Given the description of an element on the screen output the (x, y) to click on. 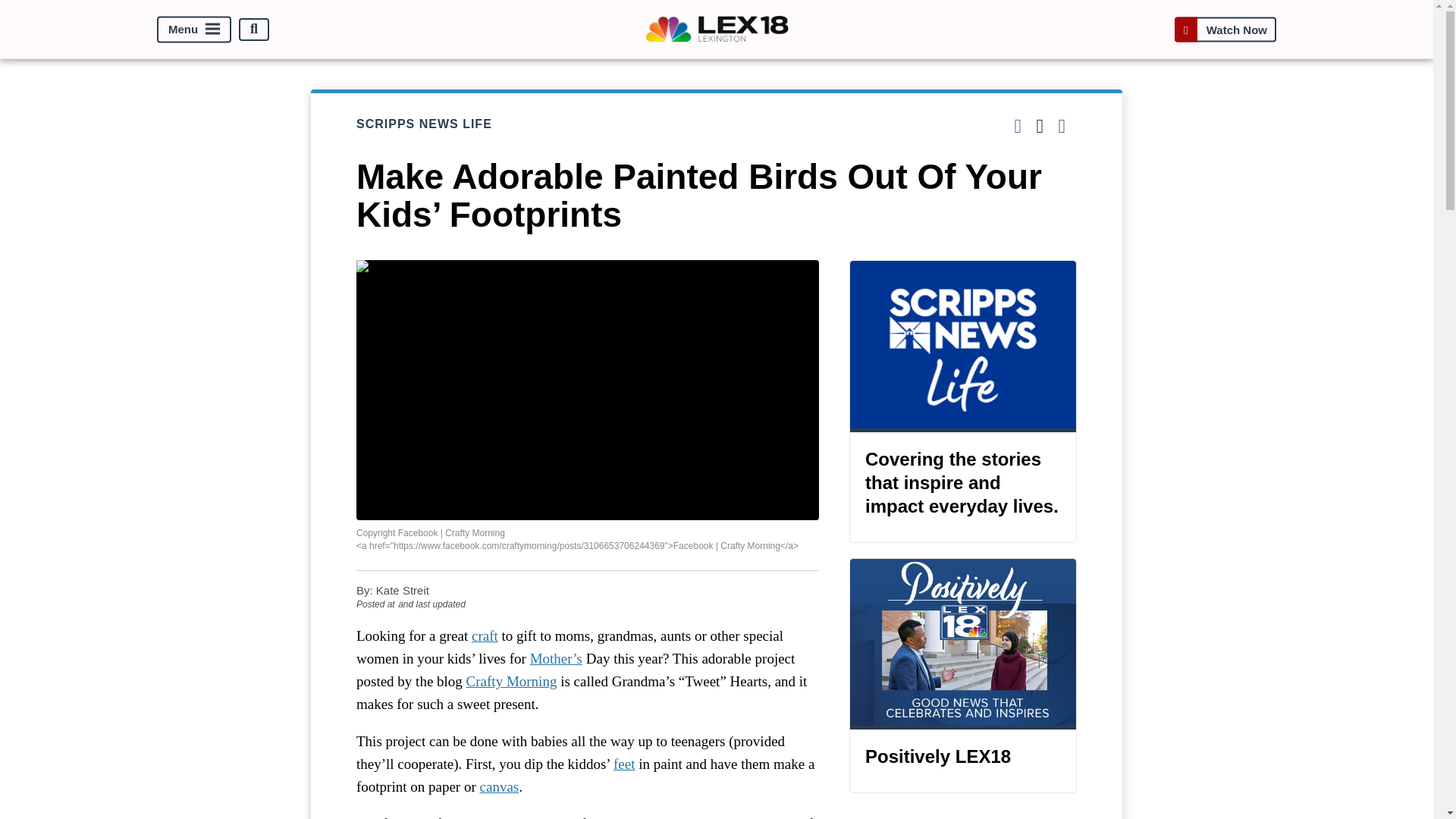
Watch Now (1224, 29)
Menu (194, 28)
